Given the description of an element on the screen output the (x, y) to click on. 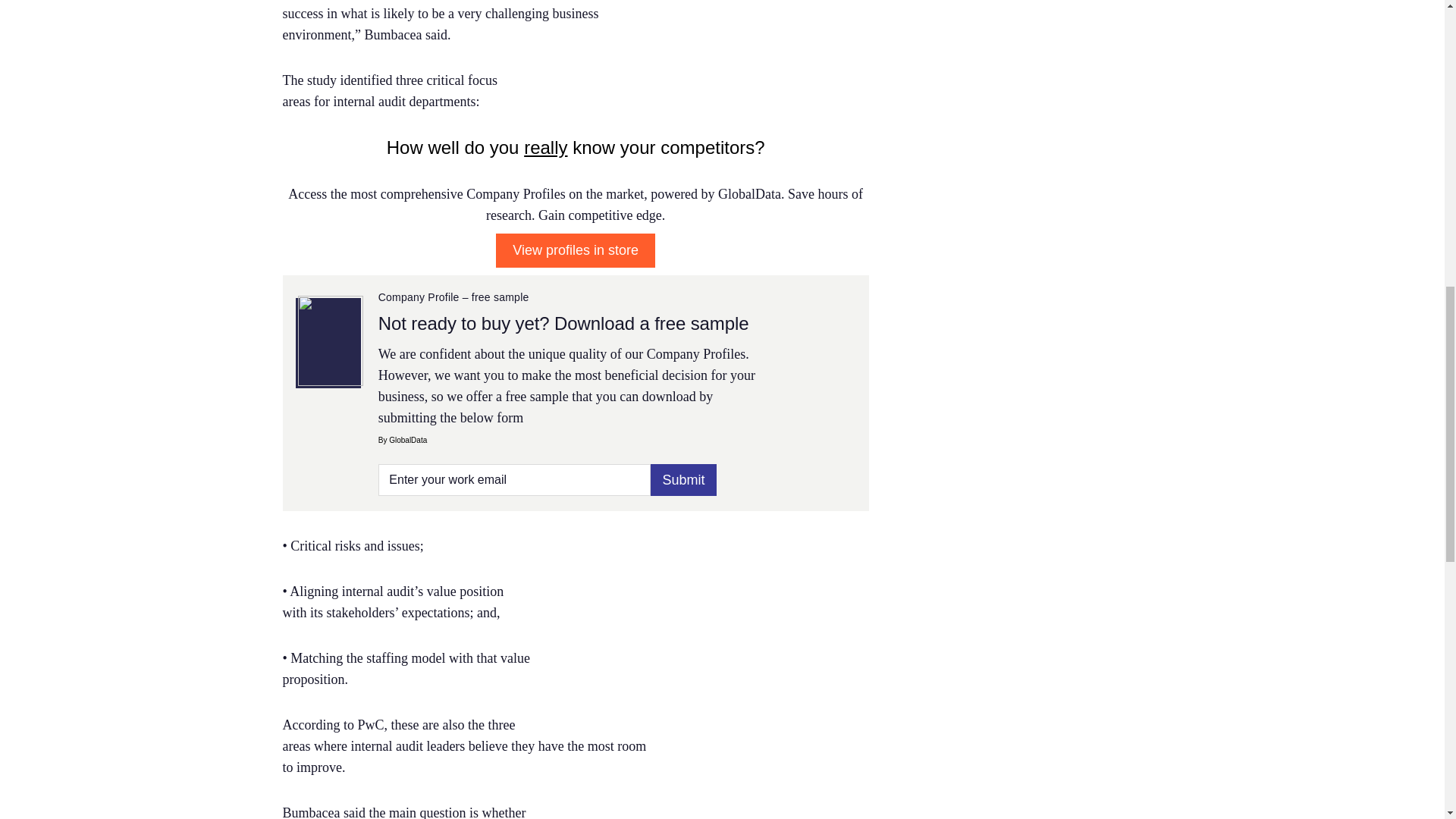
View profiles in store (575, 250)
View profiles in store (575, 250)
Submit (683, 480)
